Given the description of an element on the screen output the (x, y) to click on. 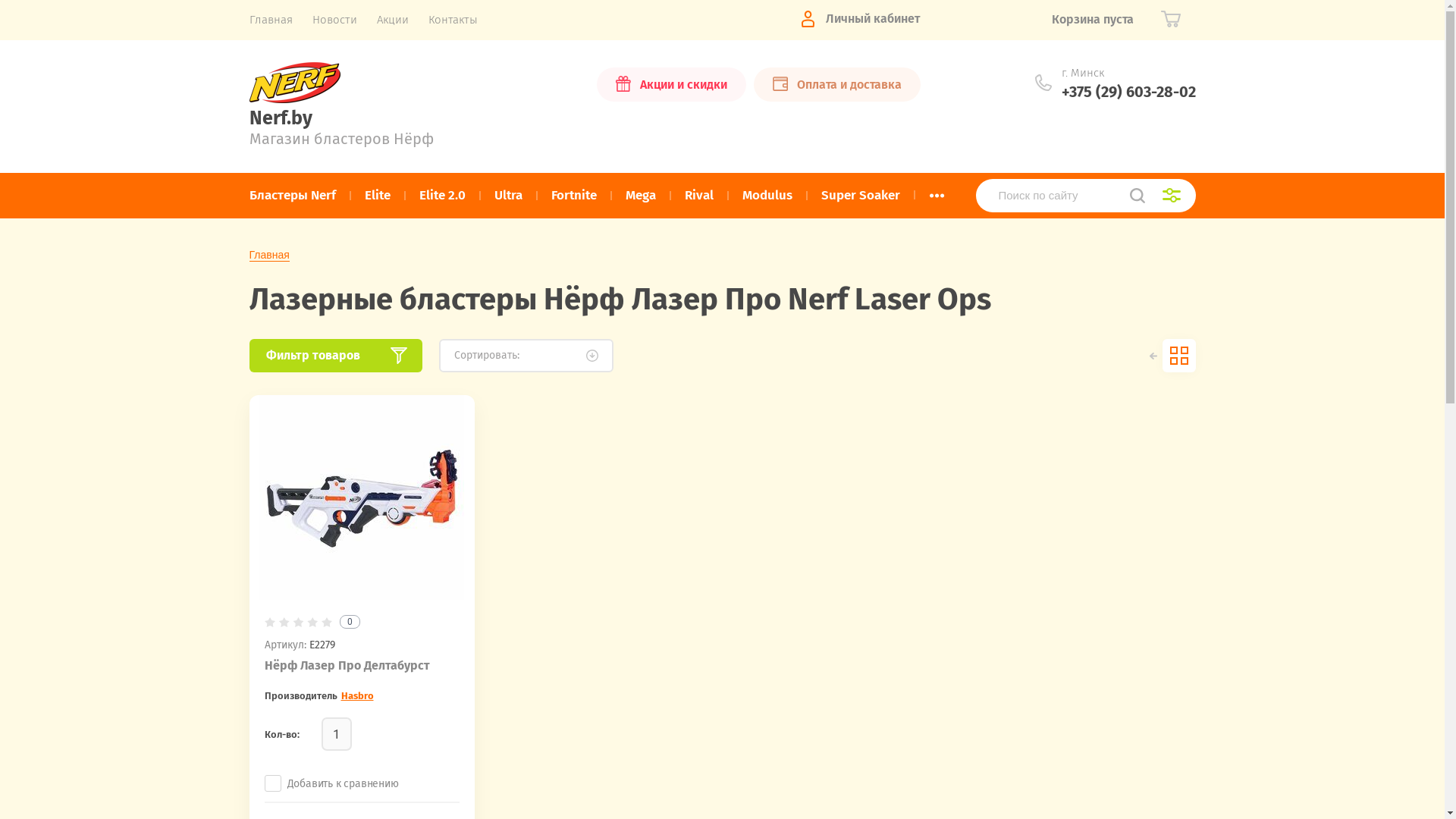
    Element type: text (1178, 355)
Fortnite Element type: text (573, 195)
Super Soaker Element type: text (860, 195)
... Element type: text (936, 194)
Modulus Element type: text (767, 195)
Elite Element type: text (377, 195)
Hasbro Element type: text (357, 695)
Ultra Element type: text (507, 195)
Mega Element type: text (640, 195)
Nerf.by Element type: text (279, 117)
Elite 2.0 Element type: text (442, 195)
Rival Element type: text (699, 195)
+375 (29) 603-28-02 Element type: text (1128, 91)
